Given the description of an element on the screen output the (x, y) to click on. 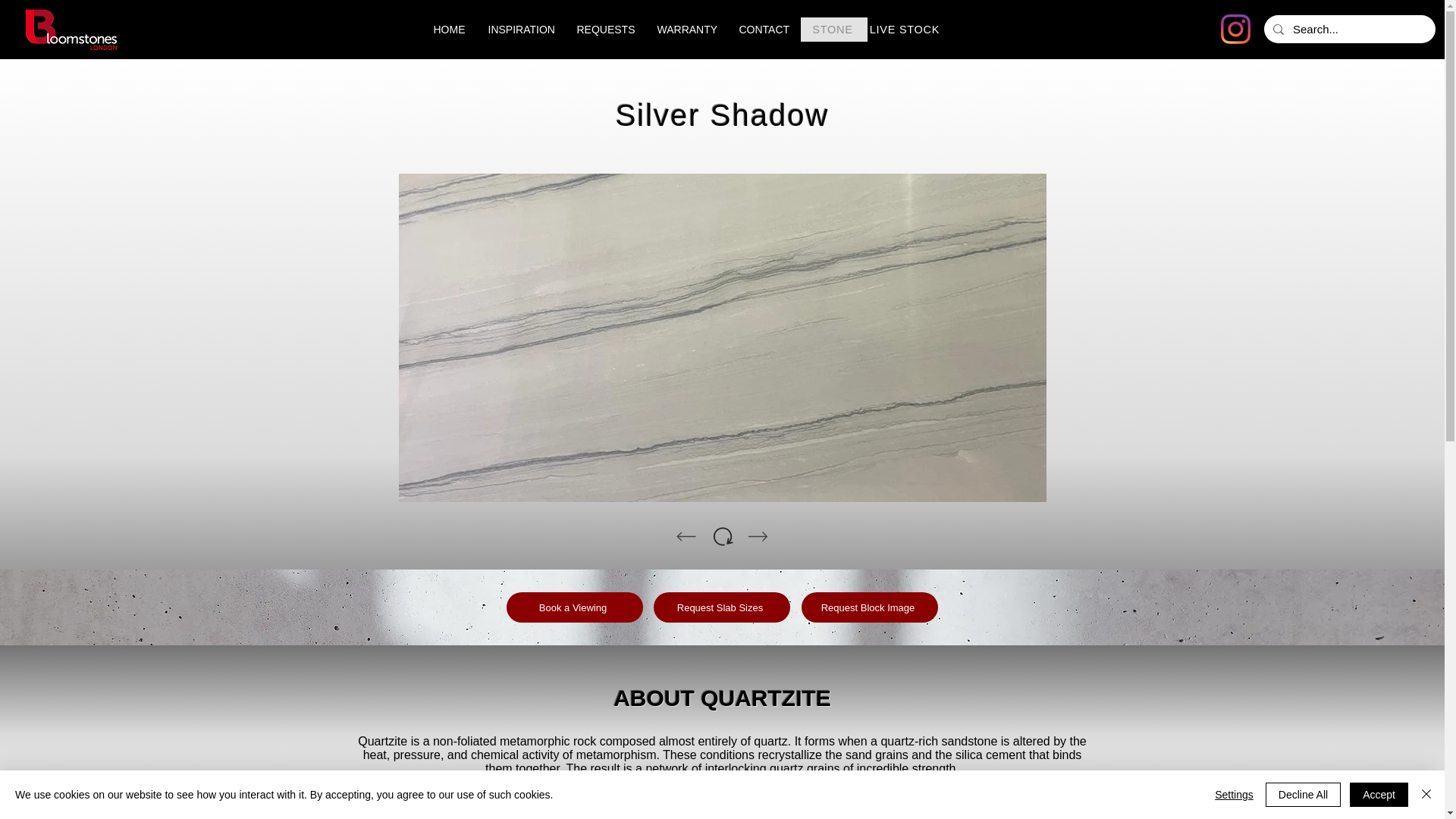
INSPIRATION (520, 29)
LIVE STOCK (905, 29)
Request Block Image (868, 607)
Request Slab Sizes (721, 607)
WARRANTY (687, 29)
HOME (449, 29)
STONE (833, 29)
CONTACT (764, 29)
REQUESTS (606, 29)
Book a Viewing (574, 607)
